Given the description of an element on the screen output the (x, y) to click on. 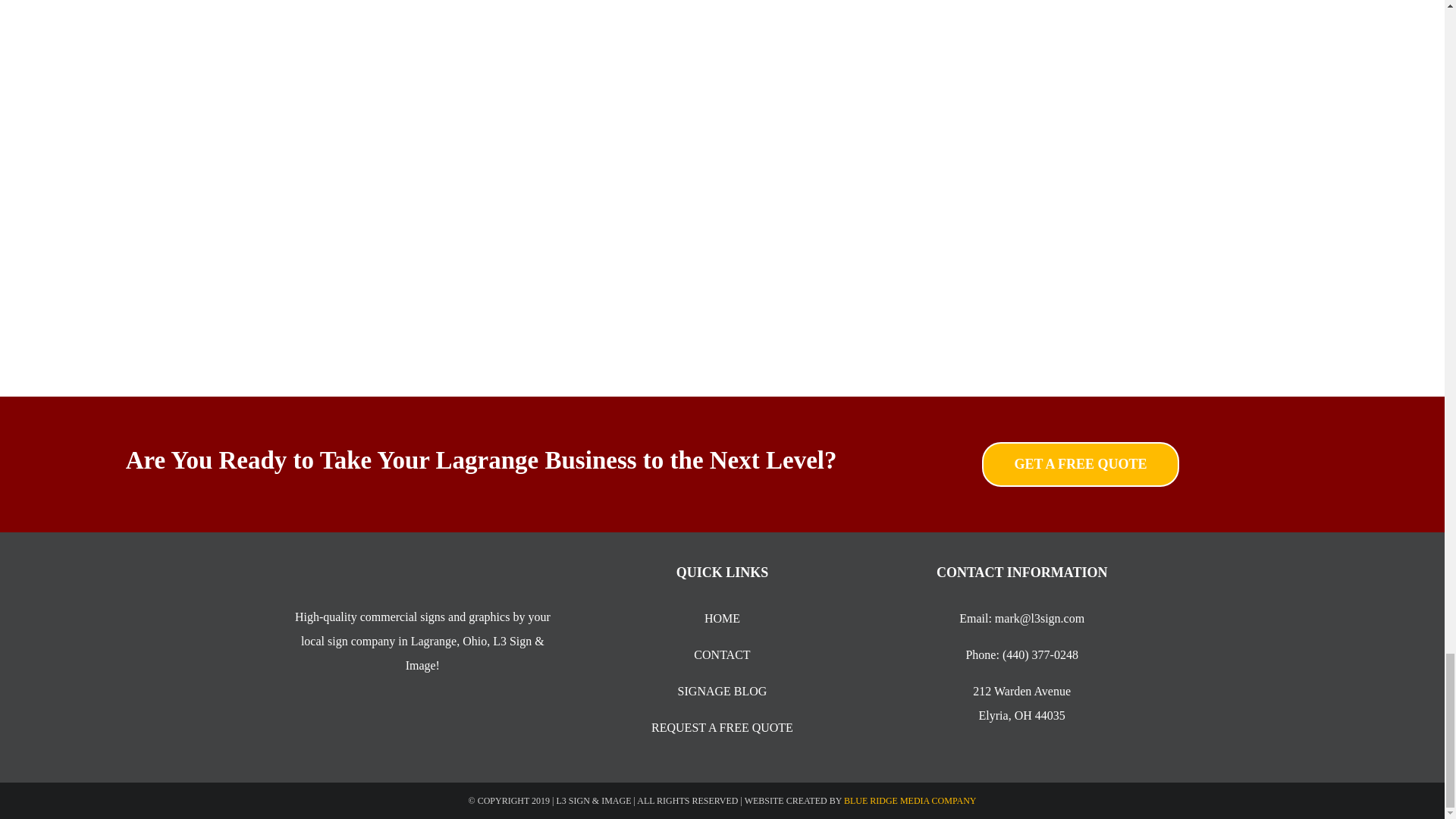
l3-mobile-logo (422, 577)
